Given the description of an element on the screen output the (x, y) to click on. 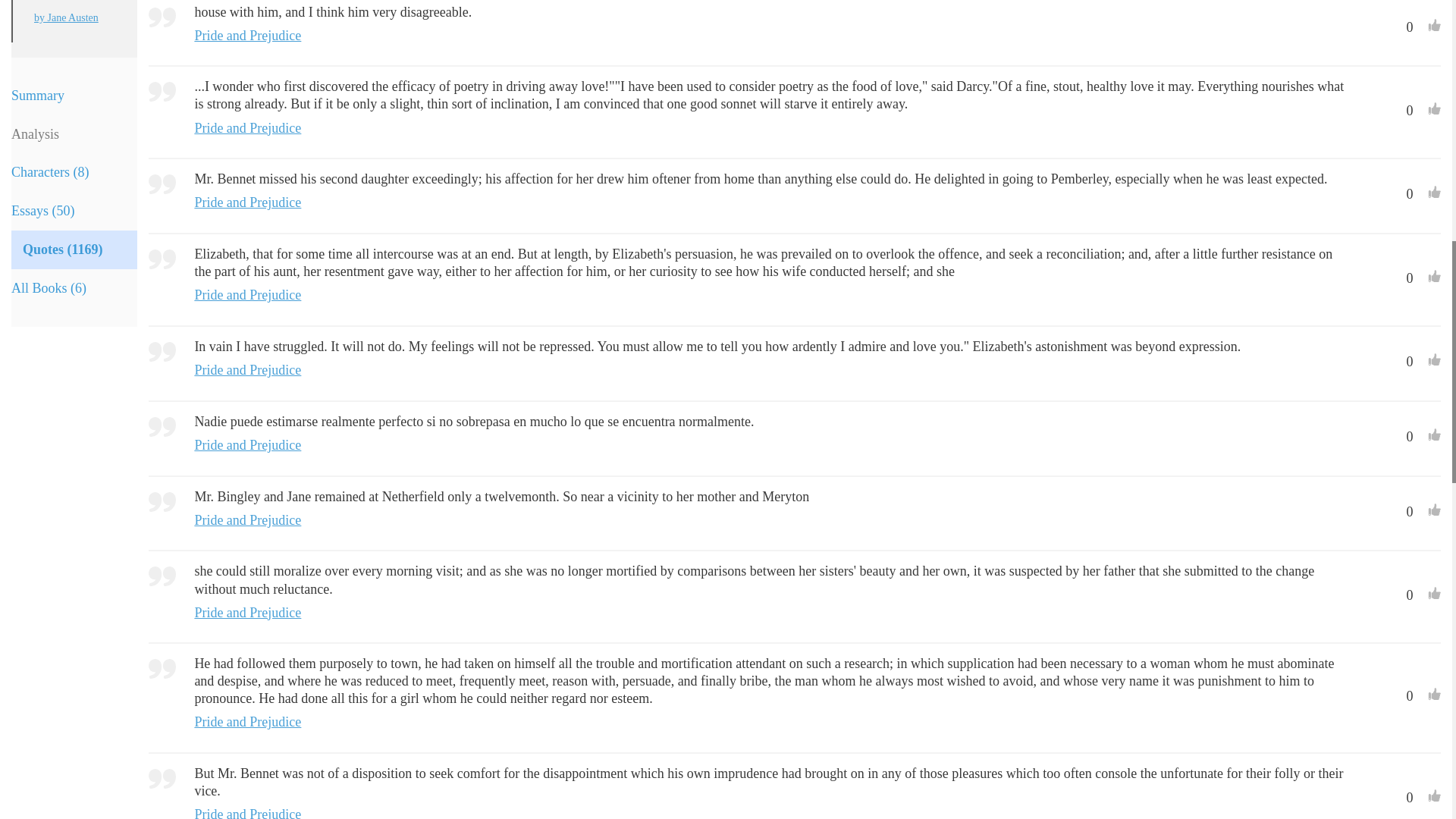
Pride and Prejudice (74, 1)
Pride and Prejudice (247, 35)
Summary (73, 95)
Pride and Prejudice (247, 295)
Pride and Prejudice (247, 127)
Pride and Prejudice (247, 202)
by Jane Austen (74, 18)
Analysis (73, 134)
Pride and Prejudice (247, 370)
